Given the description of an element on the screen output the (x, y) to click on. 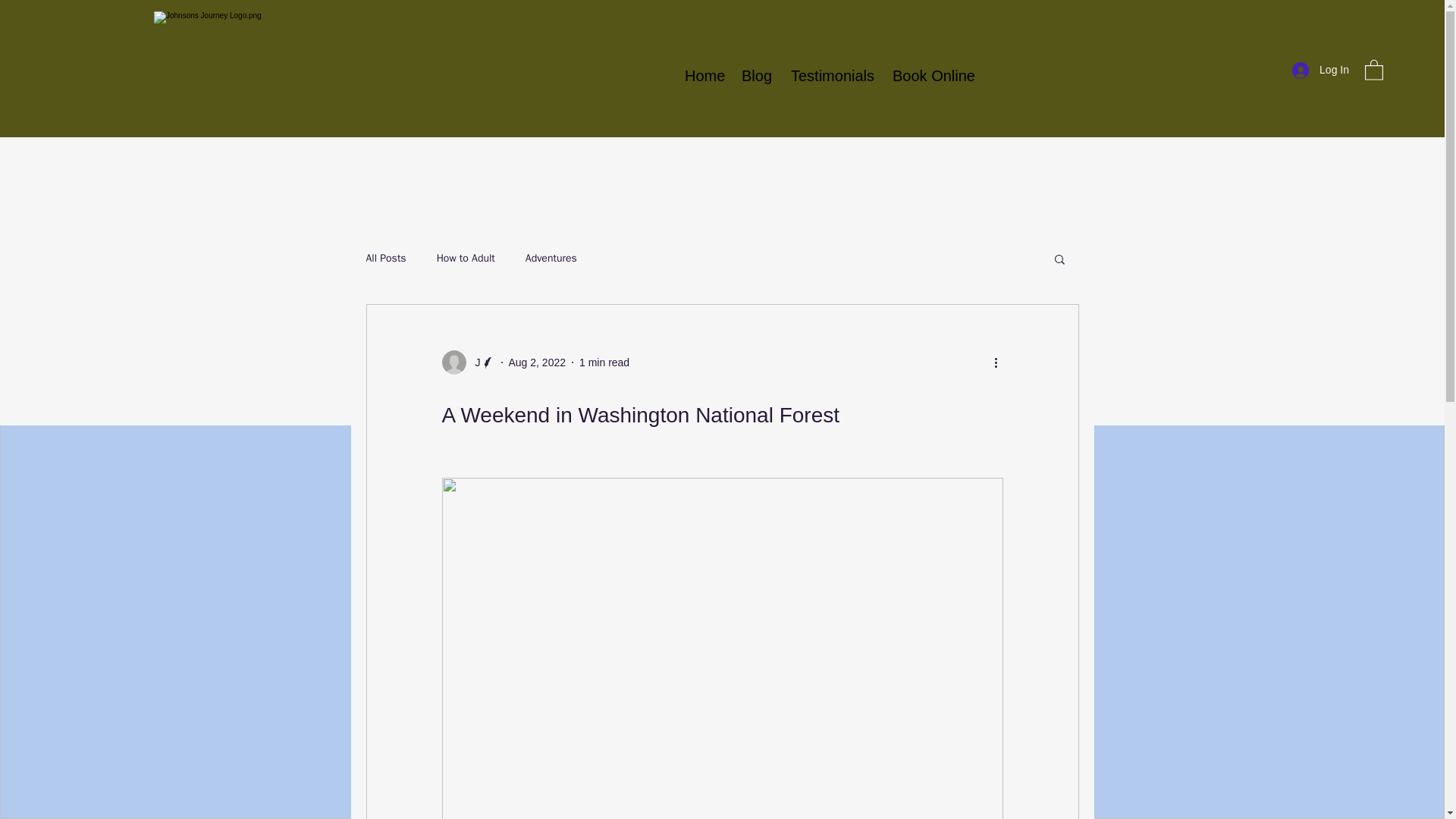
J (468, 362)
Twitter Tweet (485, 387)
1 min read (603, 362)
J (472, 362)
Twitter Tweet (644, 391)
Pin to Pinterest (494, 391)
Testimonials (829, 75)
Share (618, 375)
Log In (1320, 70)
Blog (754, 75)
How to Adult (465, 258)
Share (618, 375)
Share (561, 393)
Adventures (550, 258)
Share (561, 393)
